Given the description of an element on the screen output the (x, y) to click on. 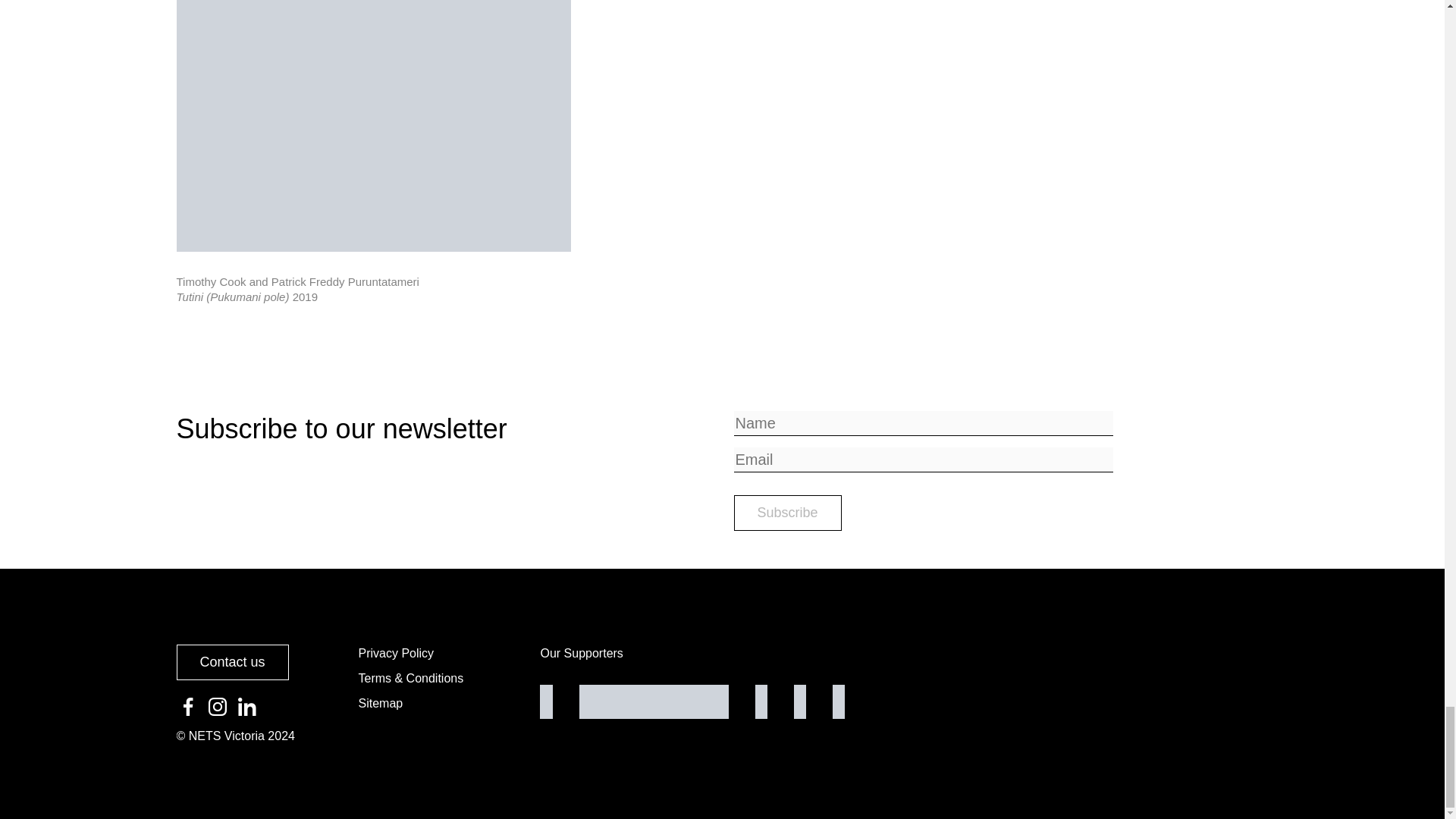
Subscribe (787, 512)
